Given the description of an element on the screen output the (x, y) to click on. 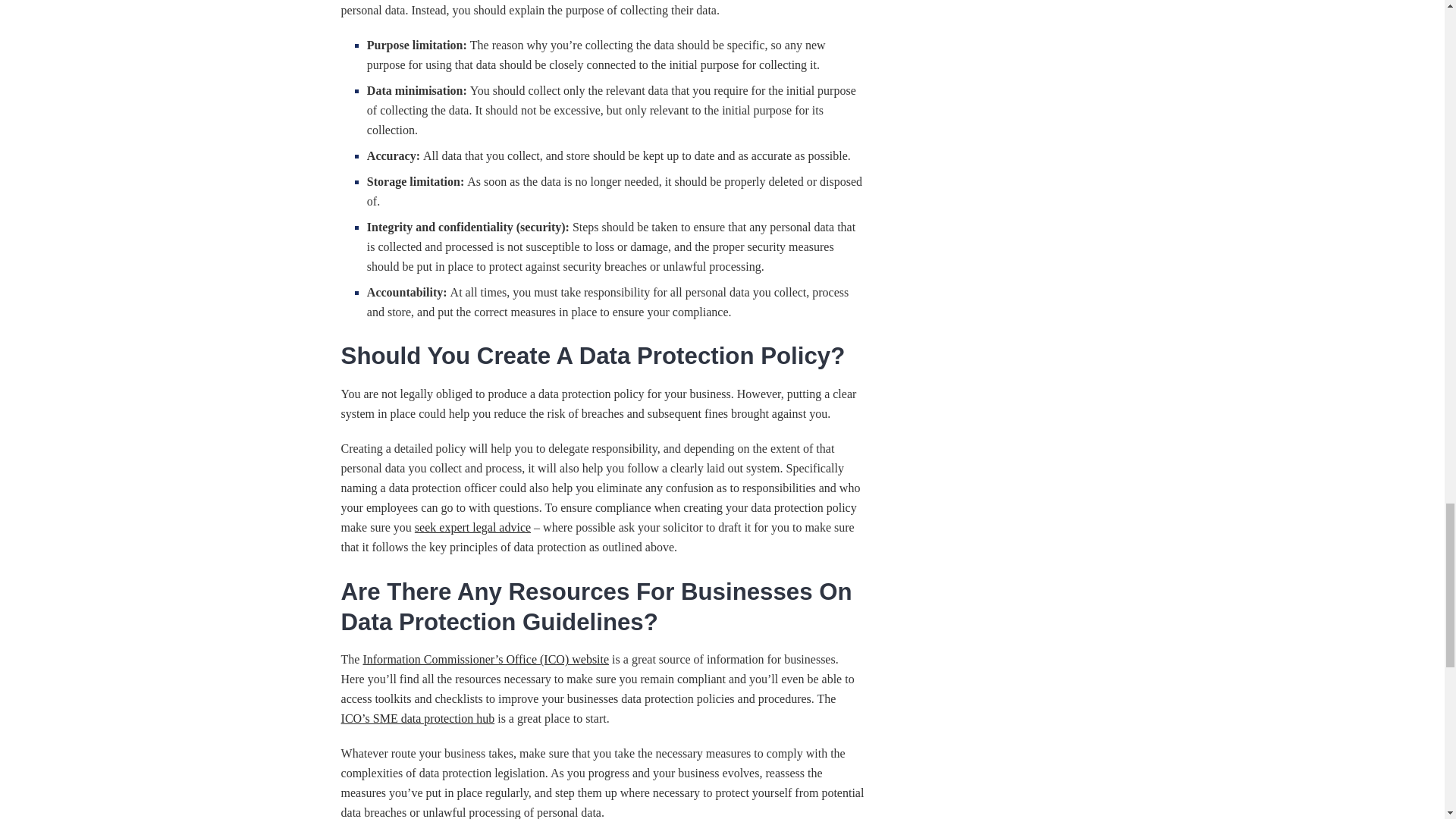
seek expert legal advice (472, 526)
